Given the description of an element on the screen output the (x, y) to click on. 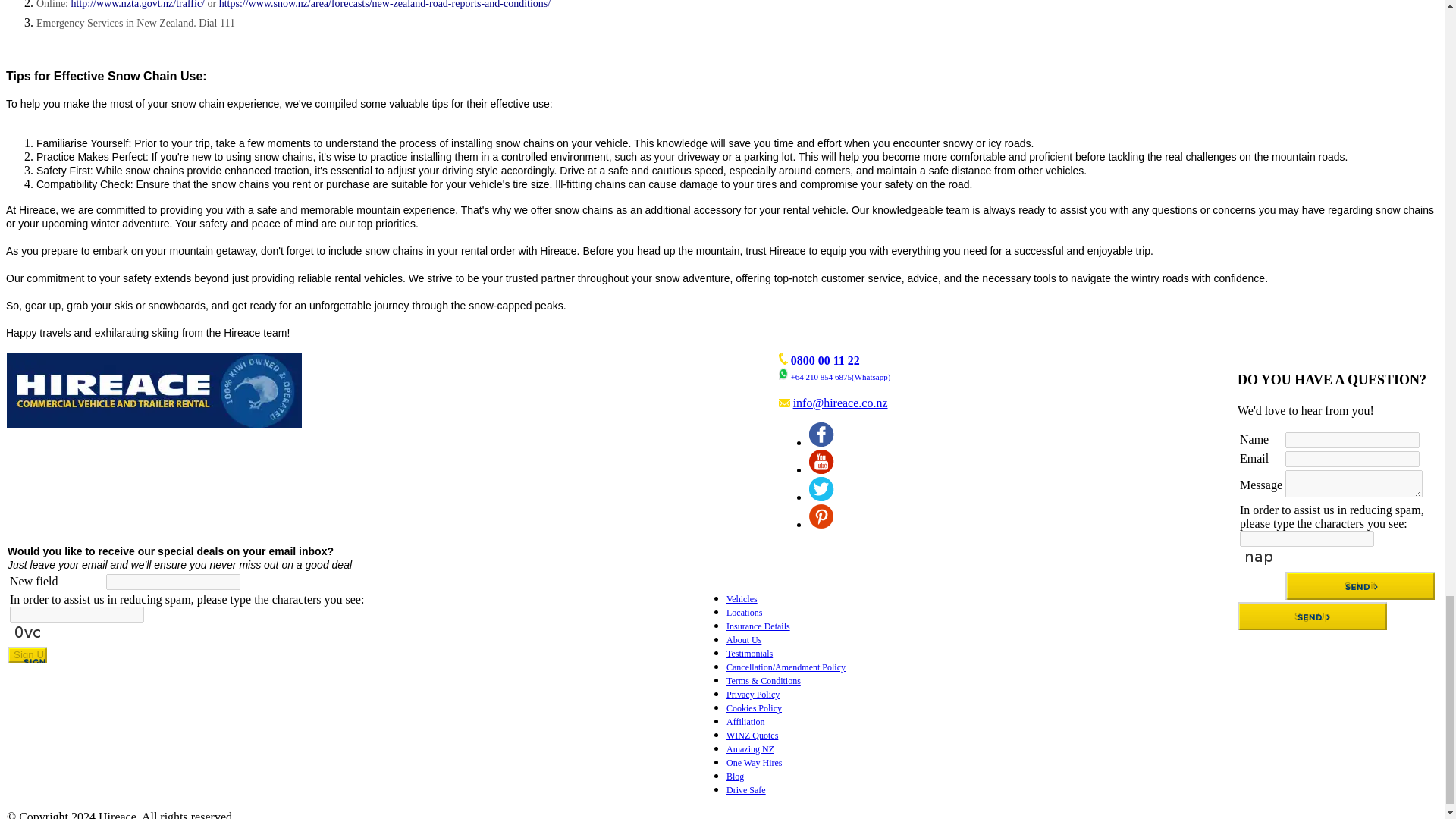
Sign Up (26, 654)
Sign Up (1312, 615)
pinterest-1 (820, 516)
Hireace-Auckland-NZ (154, 389)
